Given the description of an element on the screen output the (x, y) to click on. 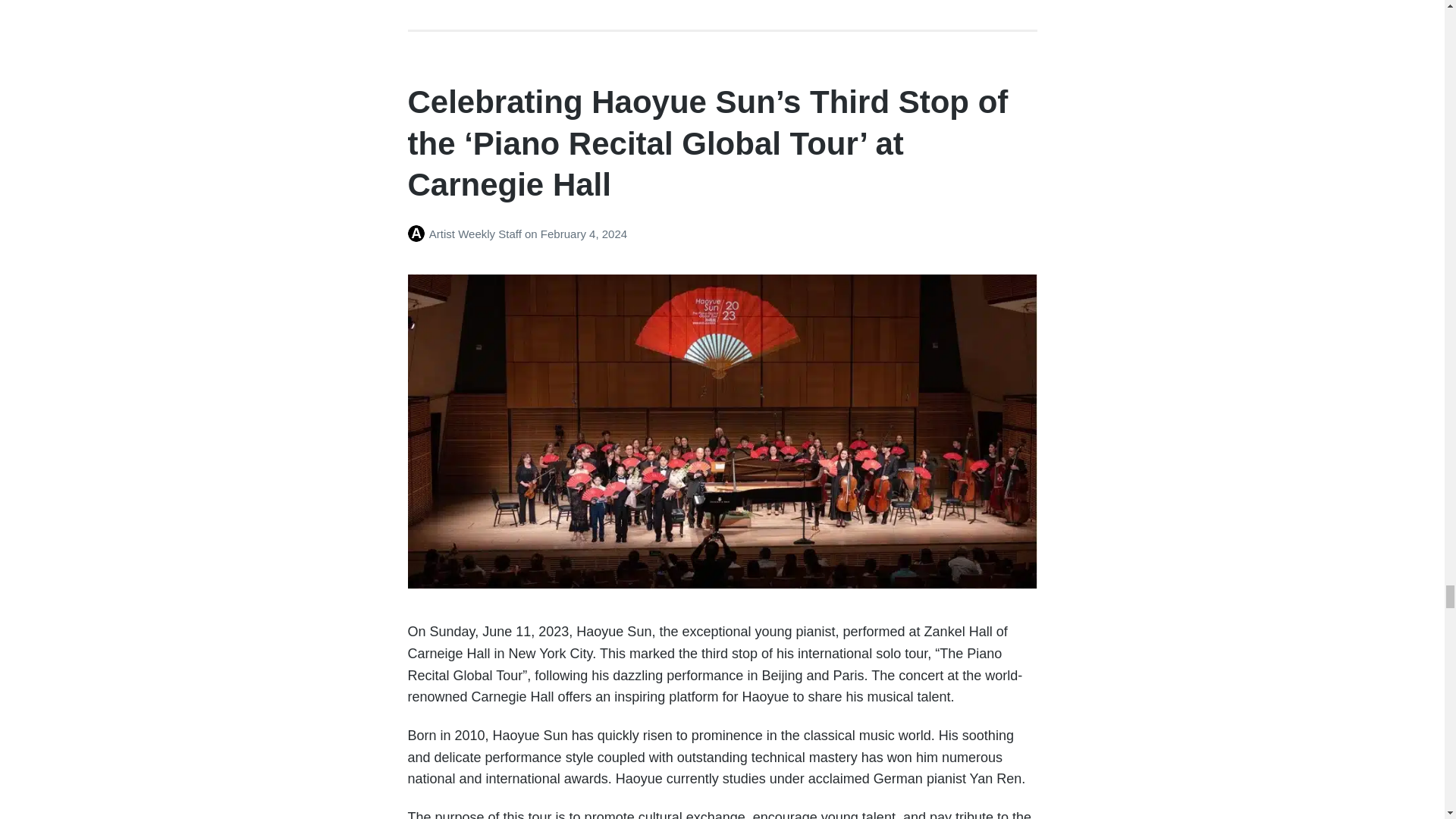
Posts by Artist Weekly Staff (418, 233)
